Given the description of an element on the screen output the (x, y) to click on. 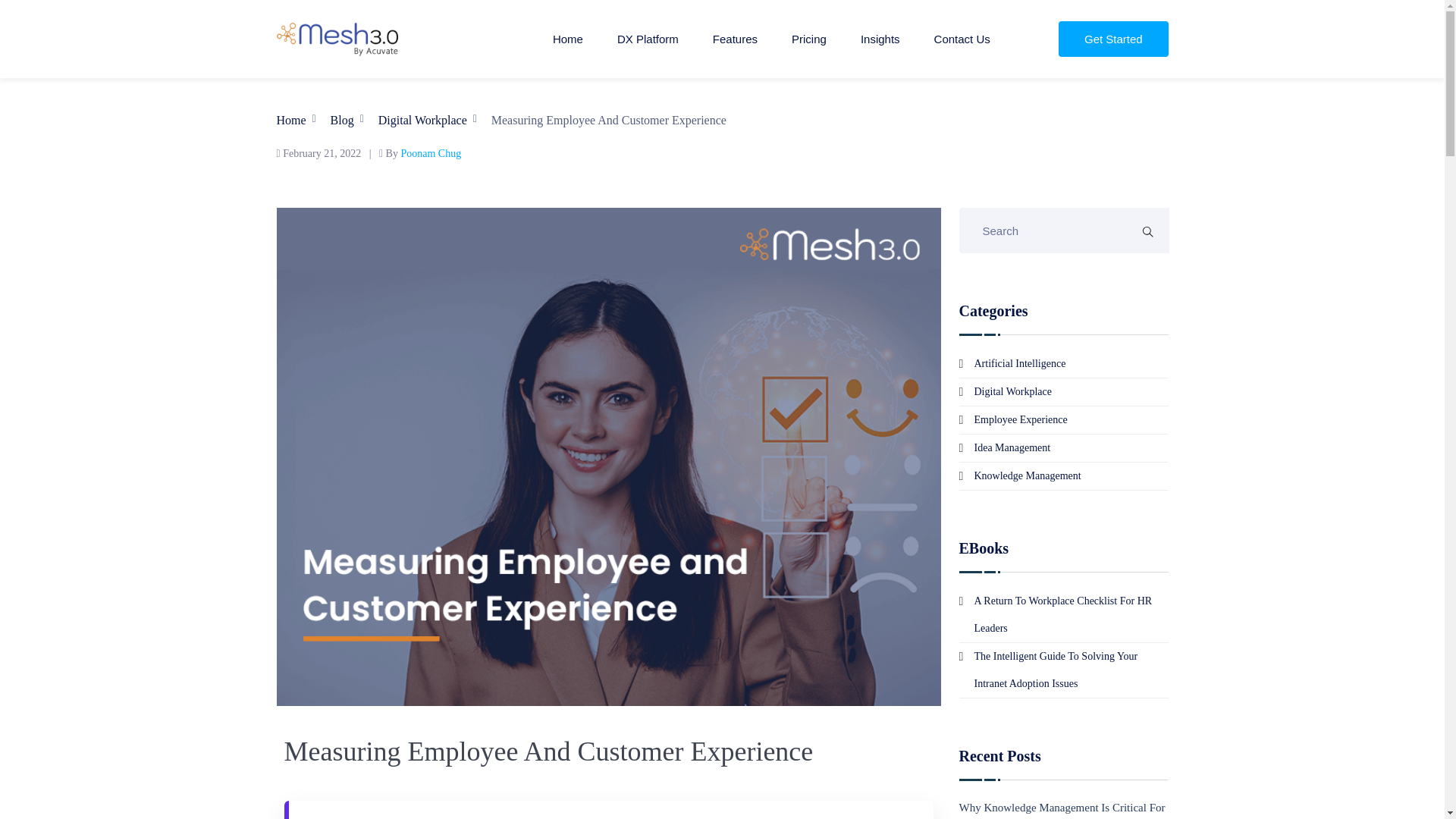
Home (568, 38)
DX Platform (647, 38)
